Given the description of an element on the screen output the (x, y) to click on. 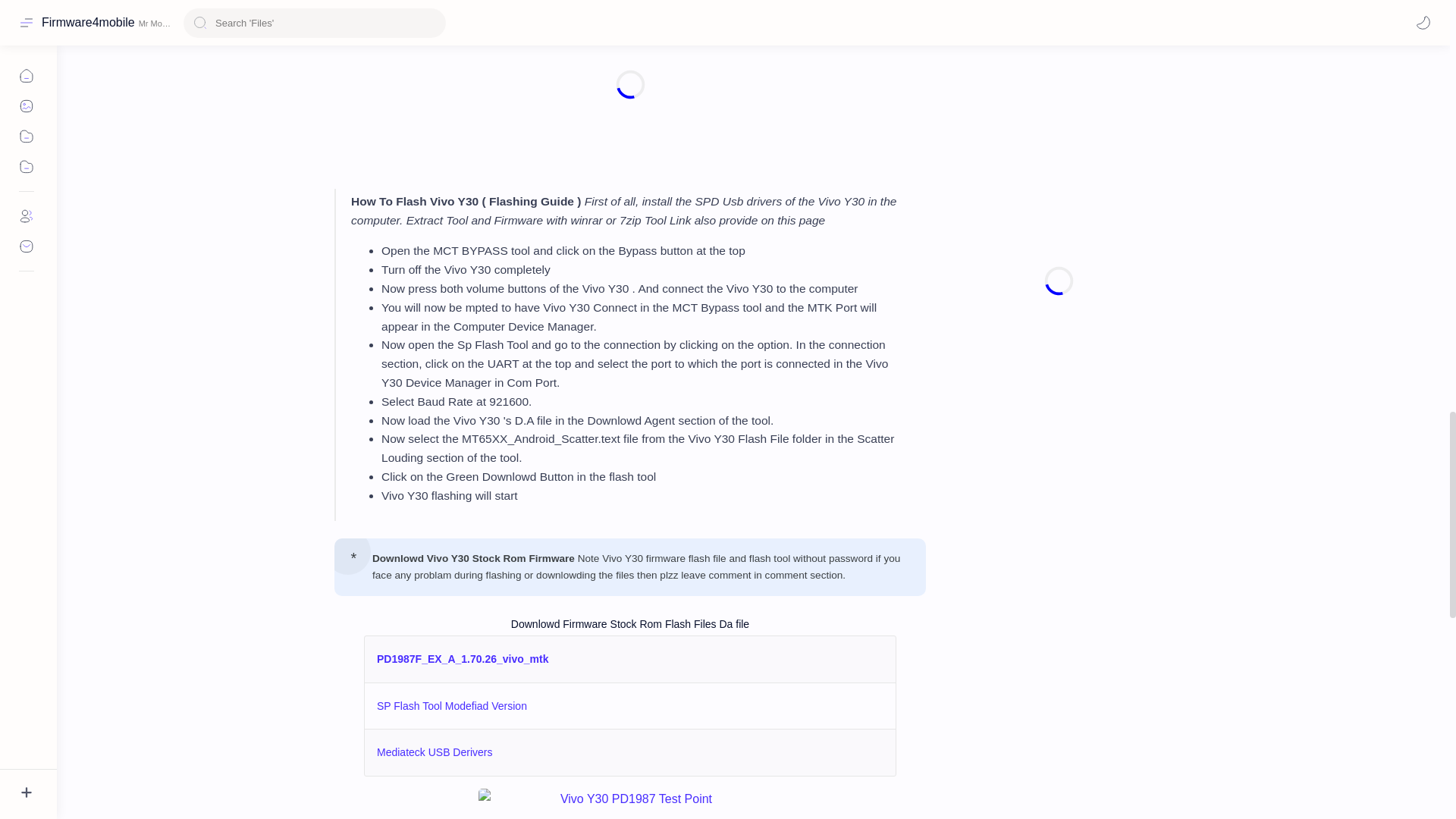
SP Flash Tool Modefiad Version (452, 705)
Vivo Y30 MTK Test Point (630, 803)
Mediateck USB Derivers (435, 752)
